Given the description of an element on the screen output the (x, y) to click on. 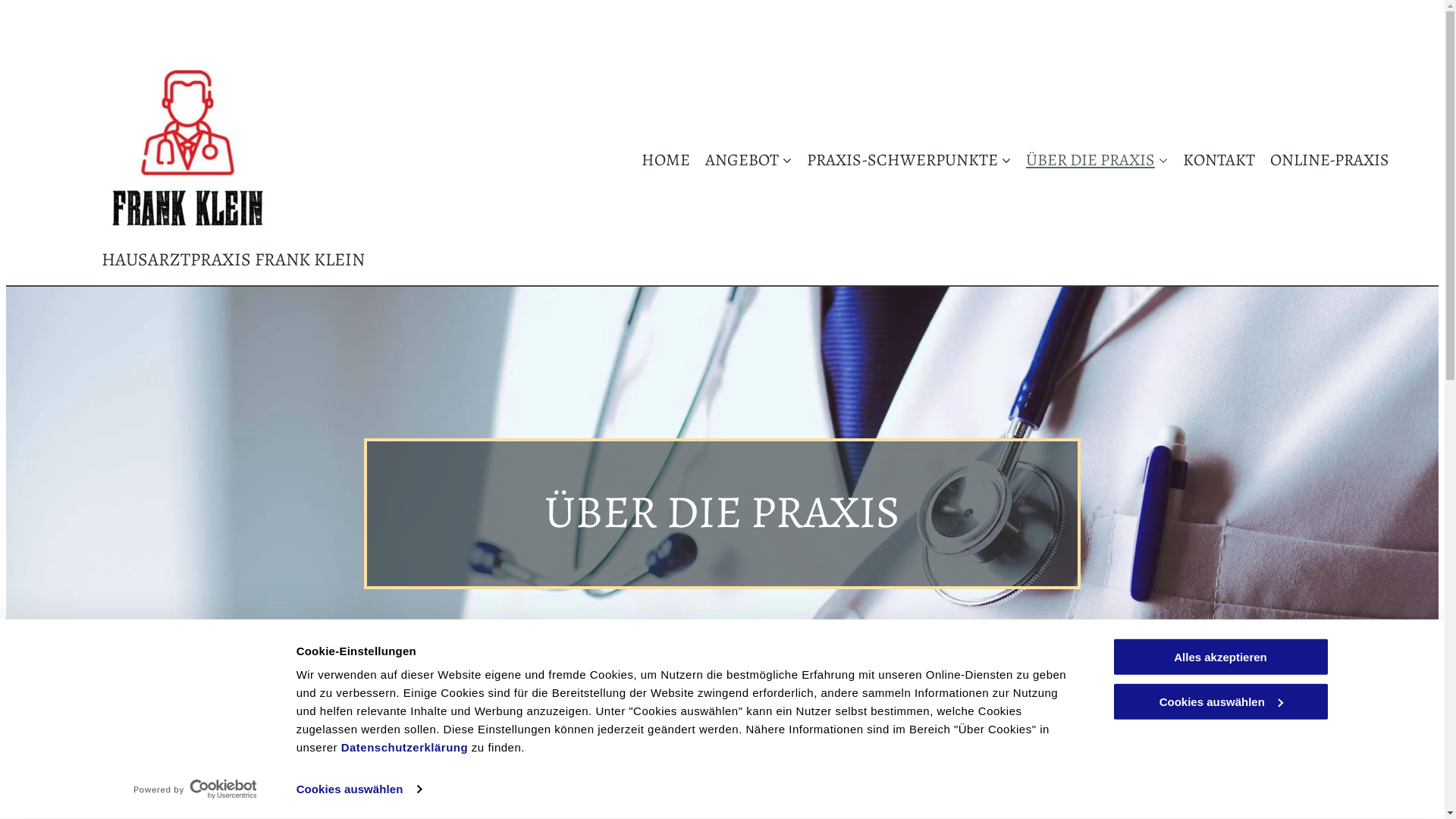
PRAXIS-SCHWERPUNKTE Element type: text (900, 159)
HOME Element type: text (658, 159)
Alles akzeptieren Element type: text (1219, 656)
KONTAKT Element type: text (1211, 159)
ANGEBOT Element type: text (740, 159)
ONLINE-PRAXIS Element type: text (1322, 159)
